Given the description of an element on the screen output the (x, y) to click on. 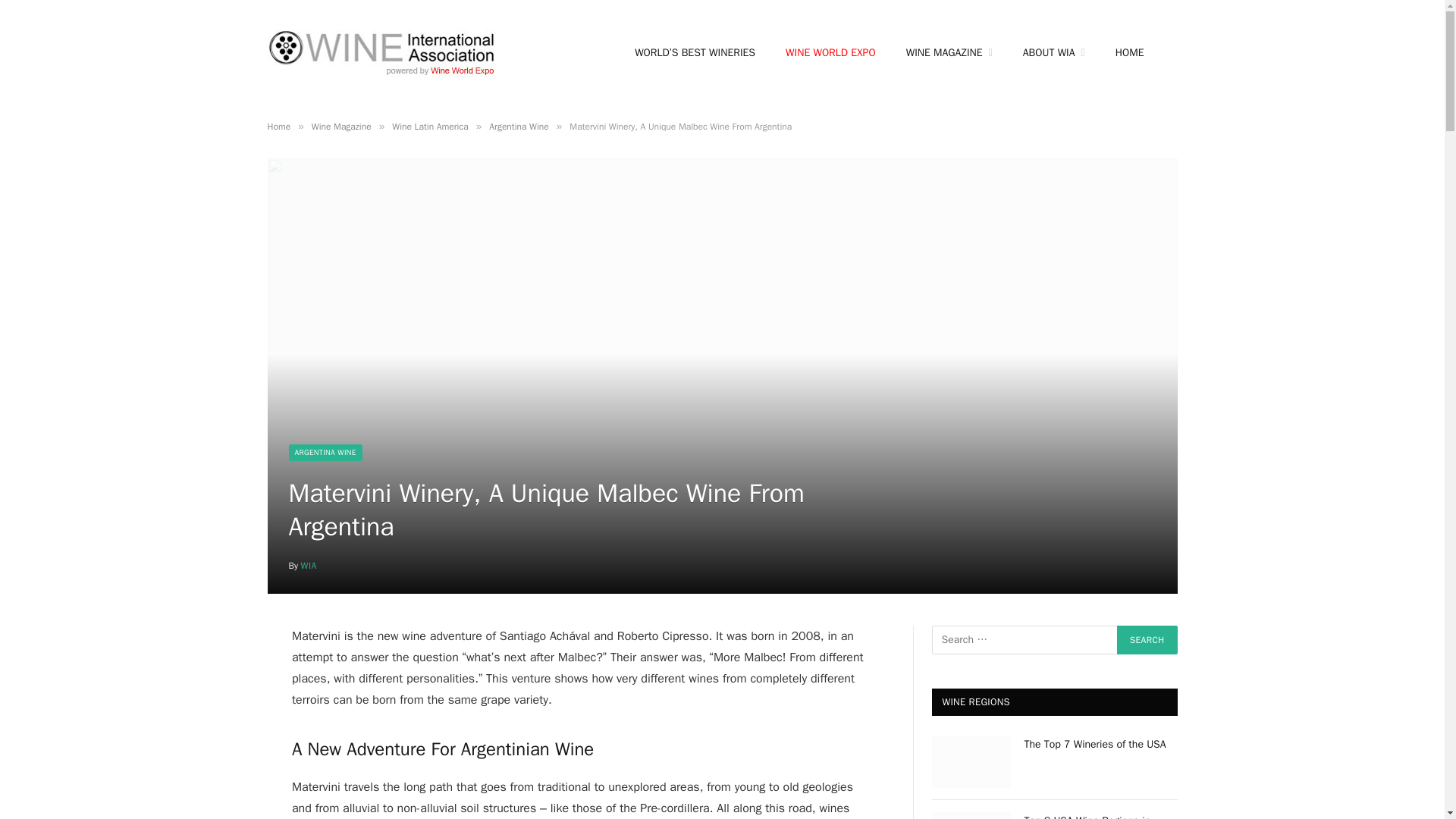
Search (1146, 639)
Search (1146, 639)
Posts by WIA (309, 565)
Wine International Association WIA (380, 52)
